Given the description of an element on the screen output the (x, y) to click on. 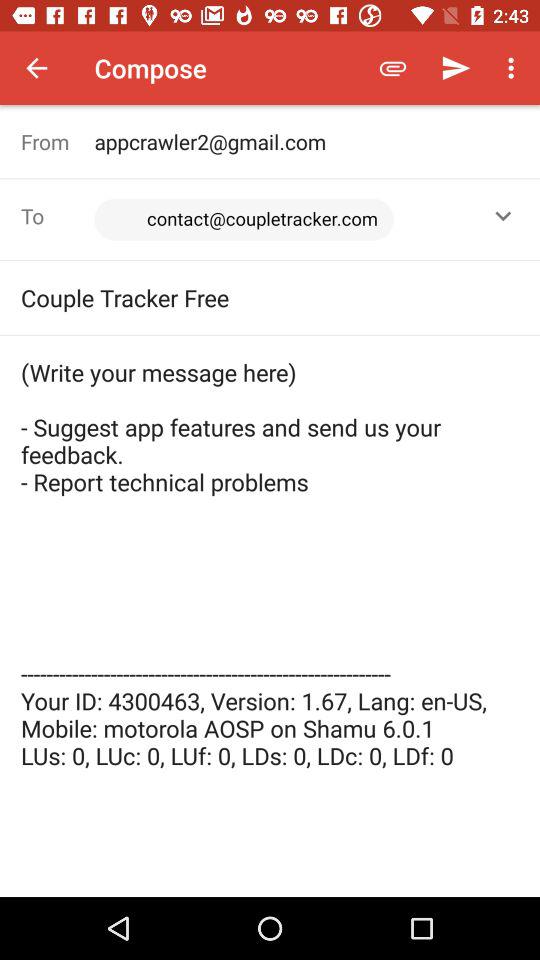
open icon above appcrawler2@gmail.com (392, 67)
